Given the description of an element on the screen output the (x, y) to click on. 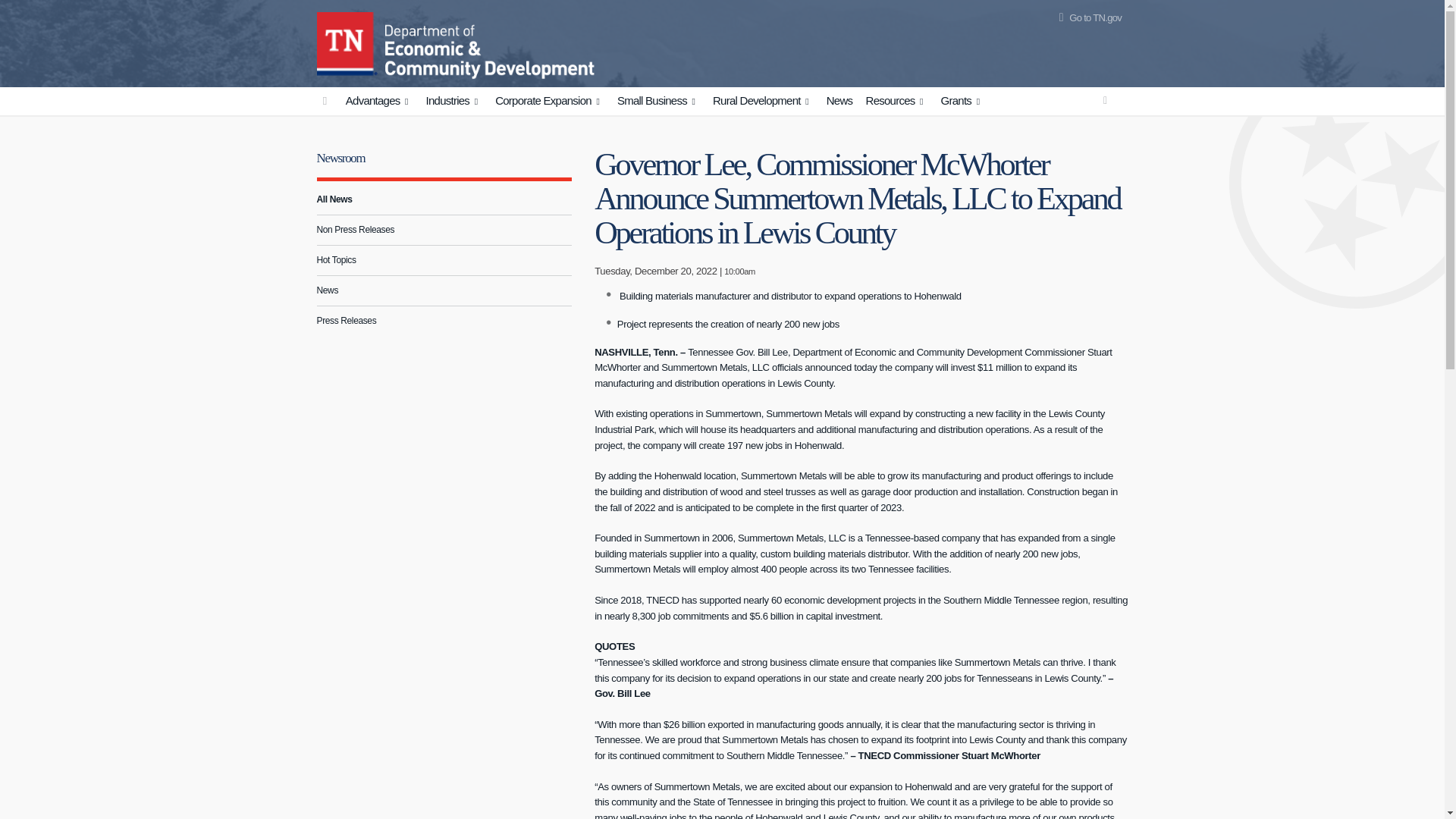
Home (347, 41)
Small Business (657, 101)
Industries (453, 101)
Go to TN.gov (1086, 18)
Advantages (379, 101)
Rural Development (762, 101)
Corporate Expansion (548, 101)
